Given the description of an element on the screen output the (x, y) to click on. 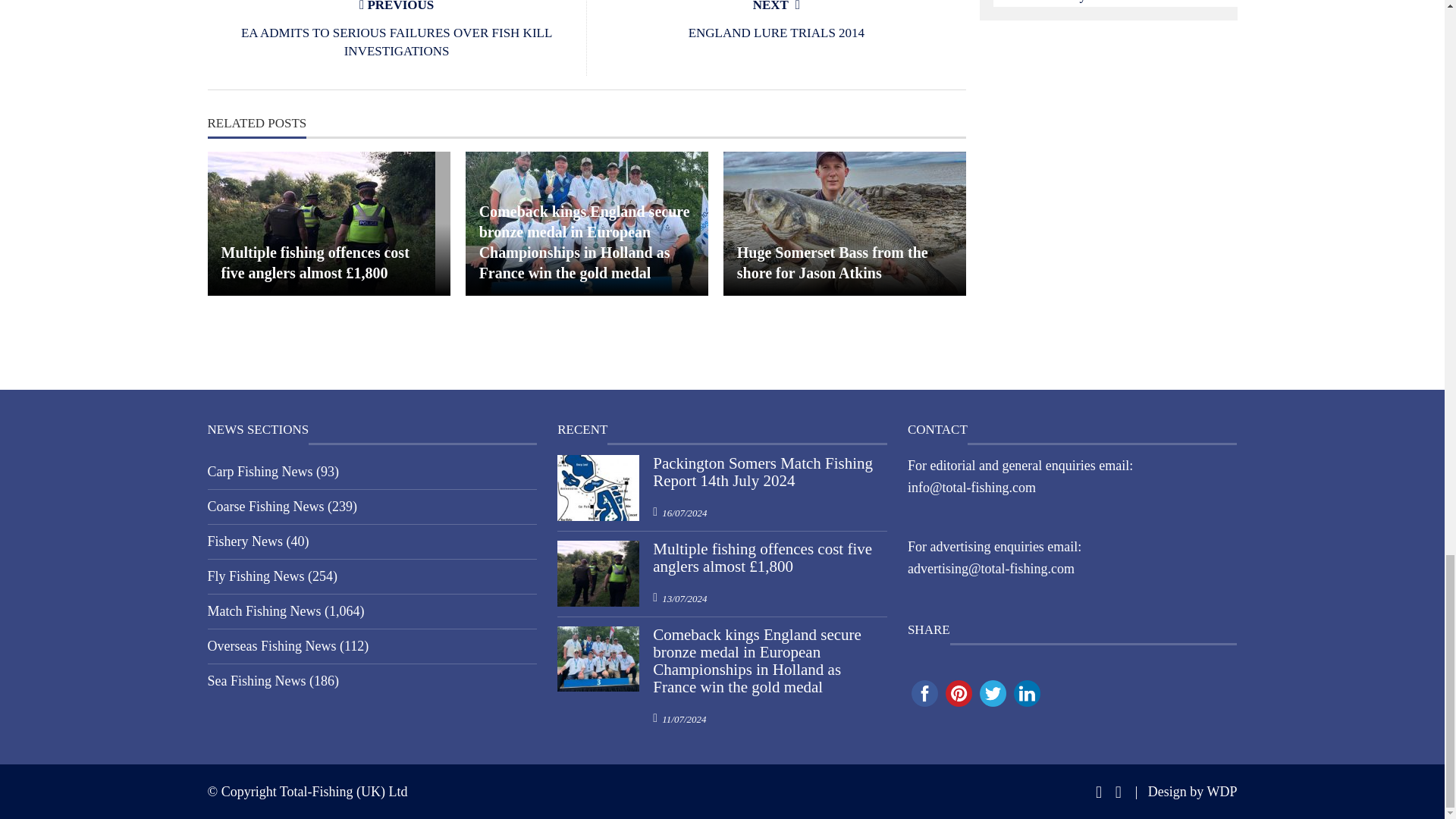
Cookie Policy (1047, 1)
